Given the description of an element on the screen output the (x, y) to click on. 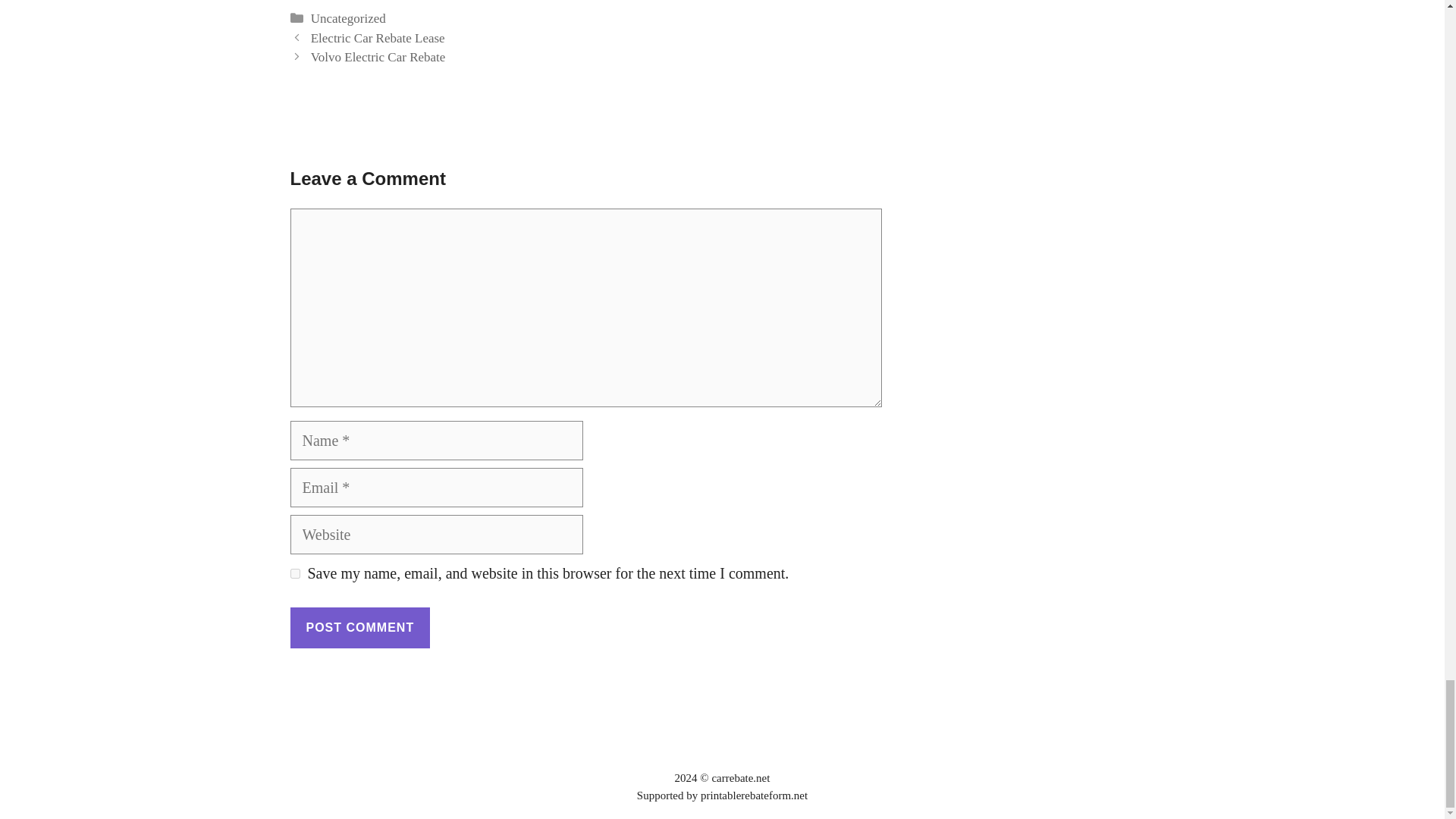
Next (378, 56)
printablerebateform.net (754, 795)
Volvo Electric Car Rebate (378, 56)
yes (294, 573)
Previous (378, 38)
Post Comment (359, 627)
Post Comment (359, 627)
Electric Car Rebate Lease (378, 38)
Uncategorized (348, 18)
